Given the description of an element on the screen output the (x, y) to click on. 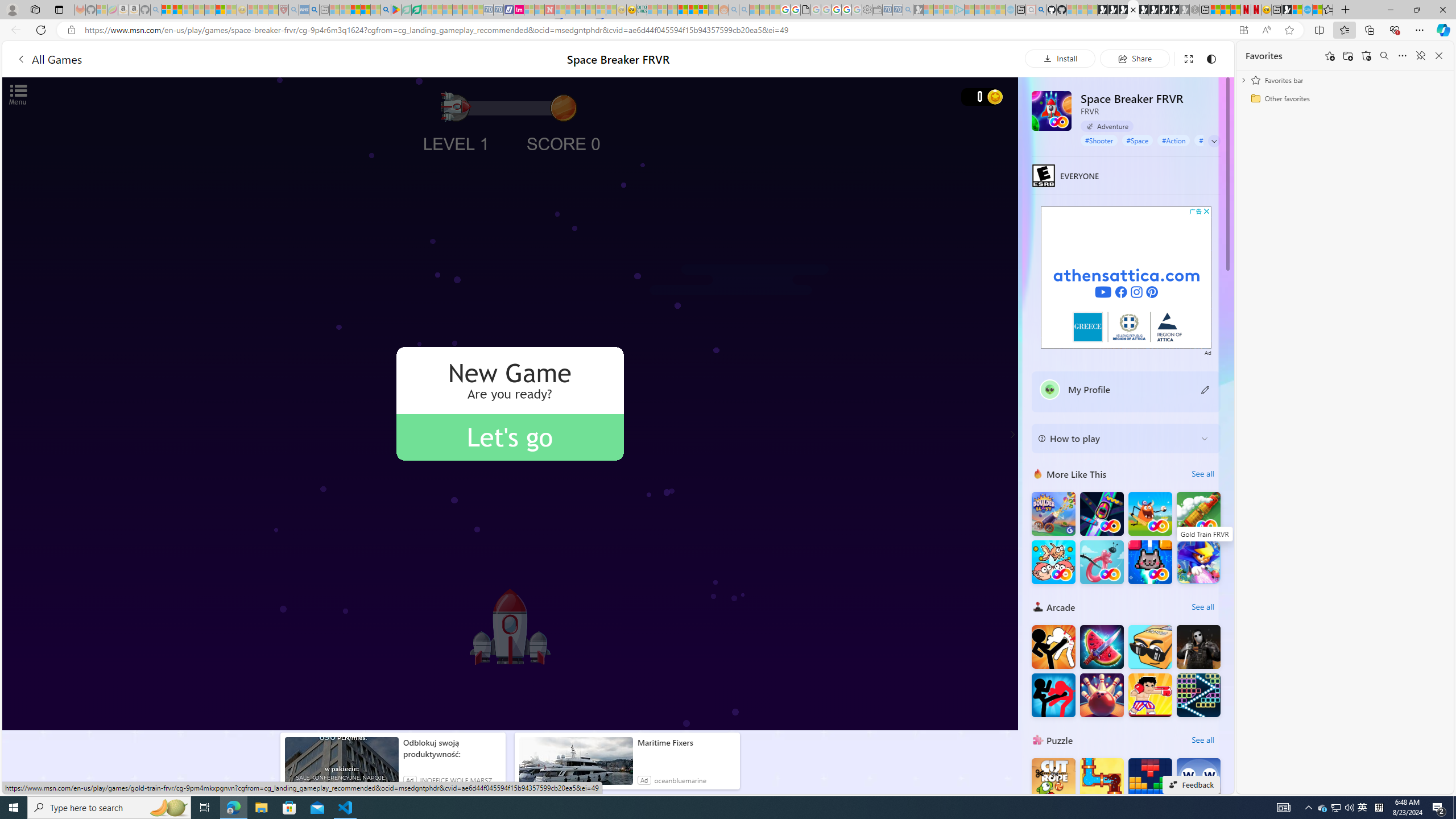
Cheap Hotels - Save70.com - Sleeping (498, 9)
MSNBC - MSN - Sleeping (652, 9)
New Report Confirms 2023 Was Record Hot | Watch - Sleeping (209, 9)
Boxing fighter : Super punch (1149, 694)
Class: expand-arrow neutral (1214, 141)
google - Search (385, 9)
oceanbluemarine (679, 779)
World - MSN (1297, 9)
